Given the description of an element on the screen output the (x, y) to click on. 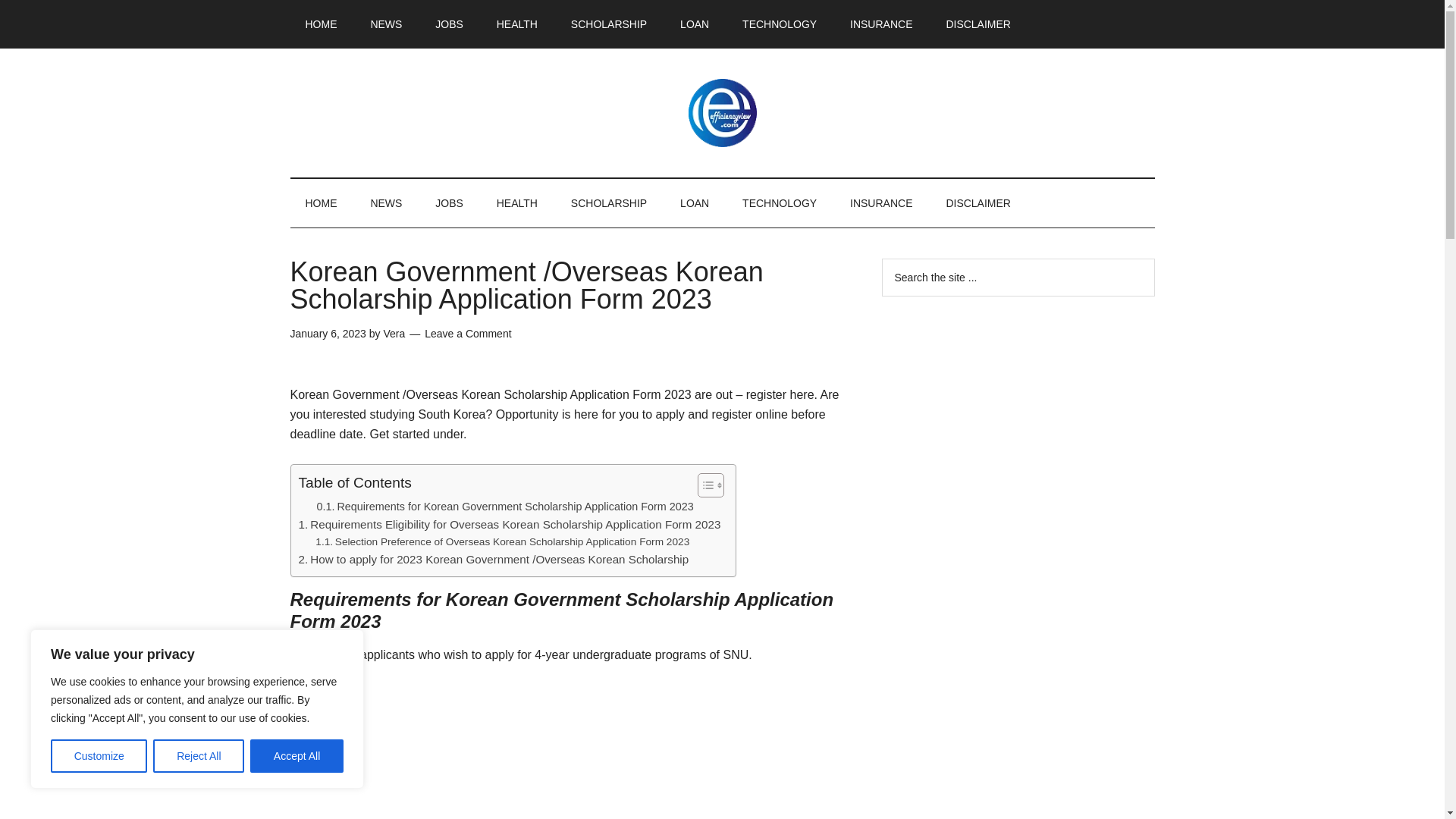
SCHOLARSHIP (609, 24)
INSURANCE (880, 24)
Efficiency View (721, 112)
DISCLAIMER (978, 24)
JOBS (449, 203)
SCHOLARSHIP (609, 203)
Customize (98, 756)
TECHNOLOGY (778, 203)
